Given the description of an element on the screen output the (x, y) to click on. 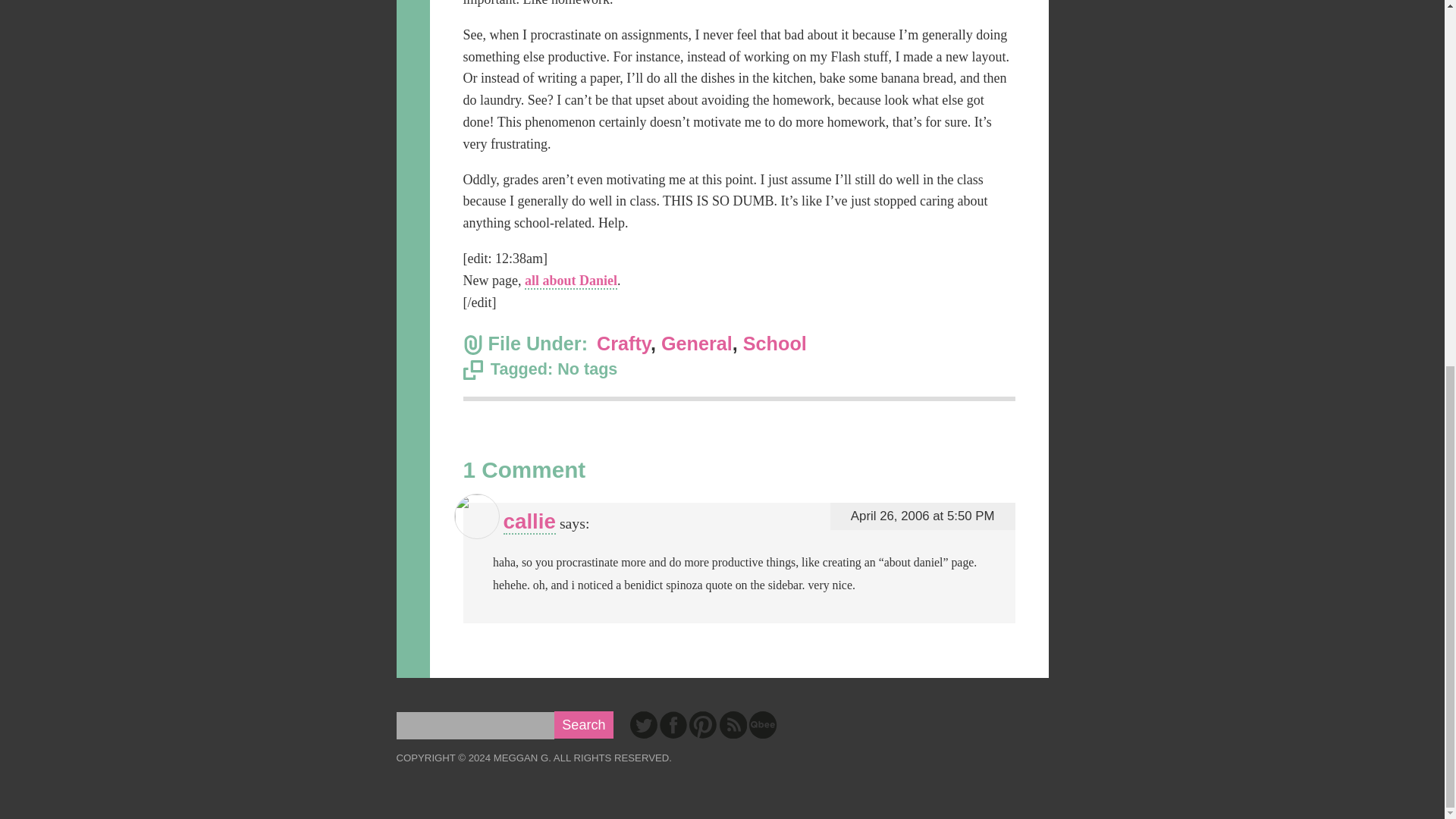
April 26, 2006 at 5:50 PM (922, 515)
all about Daniel (570, 280)
School (774, 342)
Crafty (623, 342)
General (696, 342)
Search (584, 724)
Search (584, 724)
Search (584, 724)
callie (529, 521)
